Given the description of an element on the screen output the (x, y) to click on. 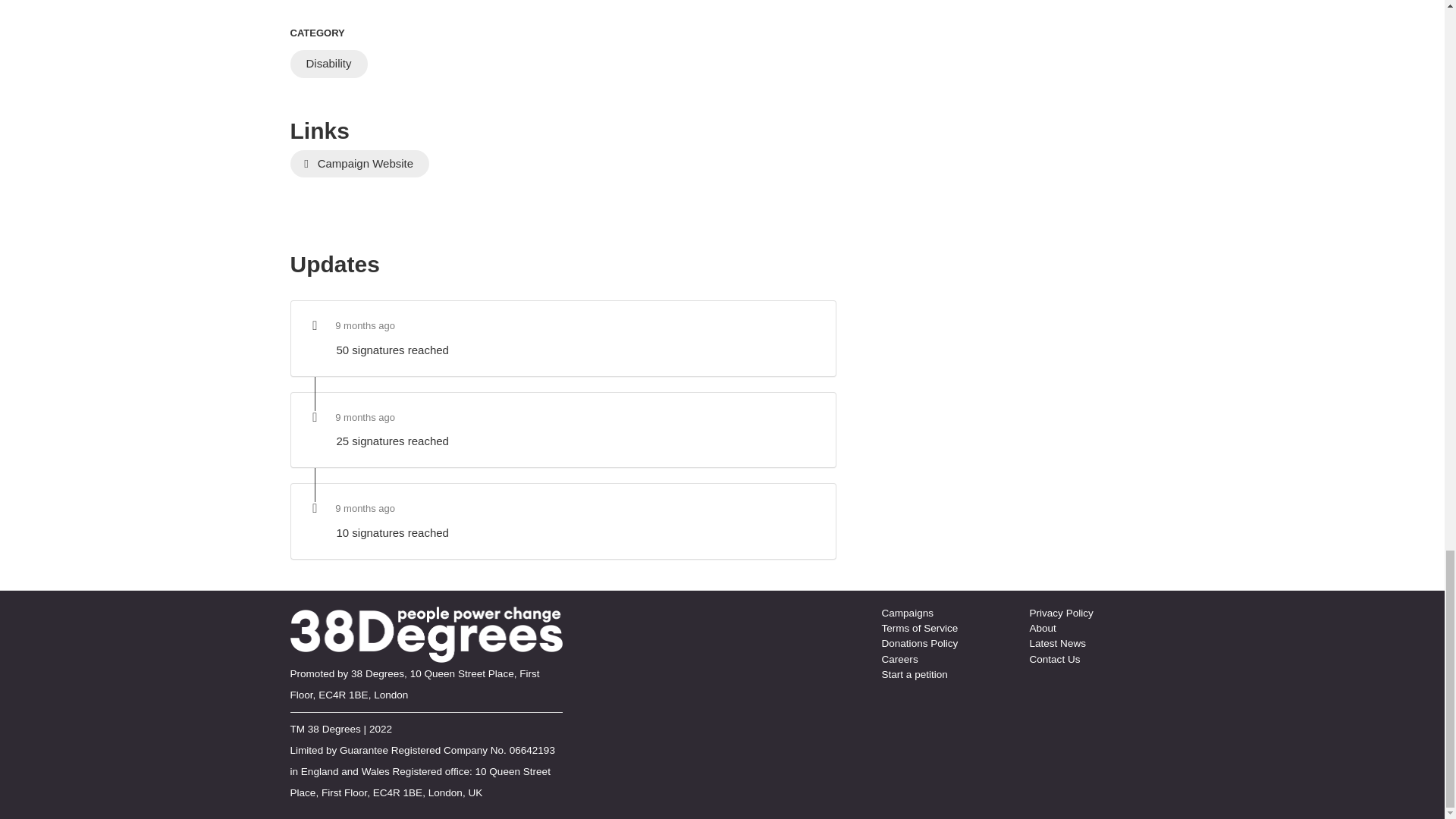
Careers (898, 659)
Privacy Policy (1061, 613)
Donations Policy (919, 643)
Campaigns (906, 613)
Campaign Website (359, 163)
Latest News (1057, 643)
Start a petition (913, 674)
Disability (327, 63)
Terms of Service (919, 627)
Contact Us (1054, 659)
